Given the description of an element on the screen output the (x, y) to click on. 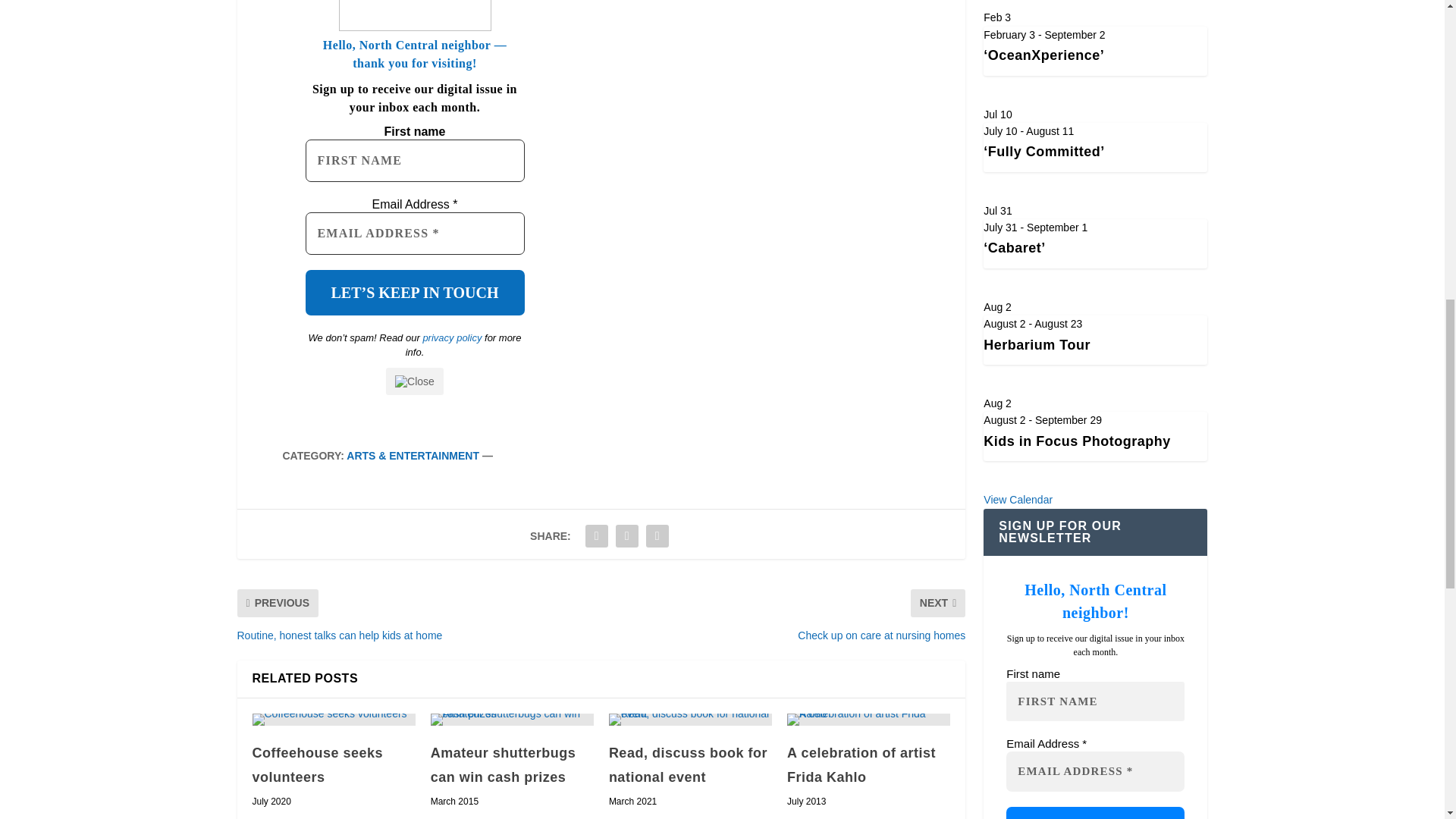
Sign me up! (1095, 812)
Amateur shutterbugs can win cash prizes (512, 719)
Coffeehouse seeks volunteers (332, 719)
Share "Music Works delivers lessons online" via Email (657, 535)
Read, discuss book for national event (689, 719)
Coffeehouse seeks volunteers (316, 764)
privacy policy (451, 337)
Share "Music Works delivers lessons online" via Facebook (595, 535)
Share "Music Works delivers lessons online" via Twitter (626, 535)
A celebration of artist Frida Kahlo (868, 719)
Email Address (414, 233)
First name (414, 160)
